Given the description of an element on the screen output the (x, y) to click on. 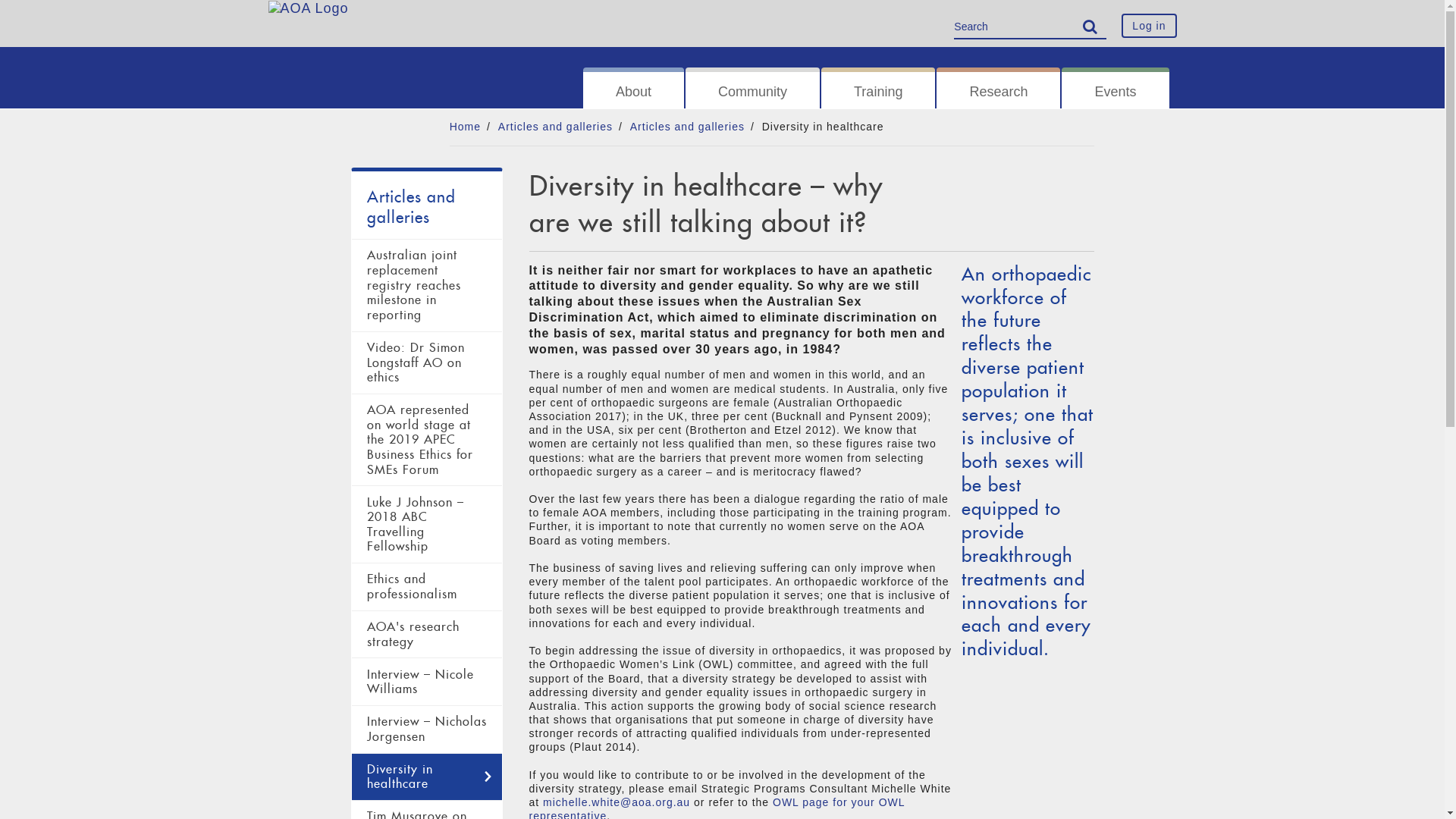
About Element type: text (633, 87)
AOA's research strategy Element type: text (426, 634)
Log in Element type: text (1148, 25)
Home Element type: text (464, 126)
AOA Logo Element type: hover (308, 18)
Community Element type: text (752, 87)
Articles and galleries Element type: text (687, 126)
Articles and galleries Element type: text (555, 126)
Search input Element type: hover (1029, 27)
Diversity in healthcare Element type: text (823, 126)
Video: Dr Simon Longstaff AO on ethics Element type: text (426, 362)
Events Element type: text (1114, 87)
Training Element type: text (878, 87)
AOA Logo Element type: hover (308, 7)
Diversity in healthcare Element type: text (426, 776)
michelle.white@aoa.org.au Element type: text (616, 802)
Ethics and professionalism Element type: text (426, 586)
Research Element type: text (998, 87)
